Given the description of an element on the screen output the (x, y) to click on. 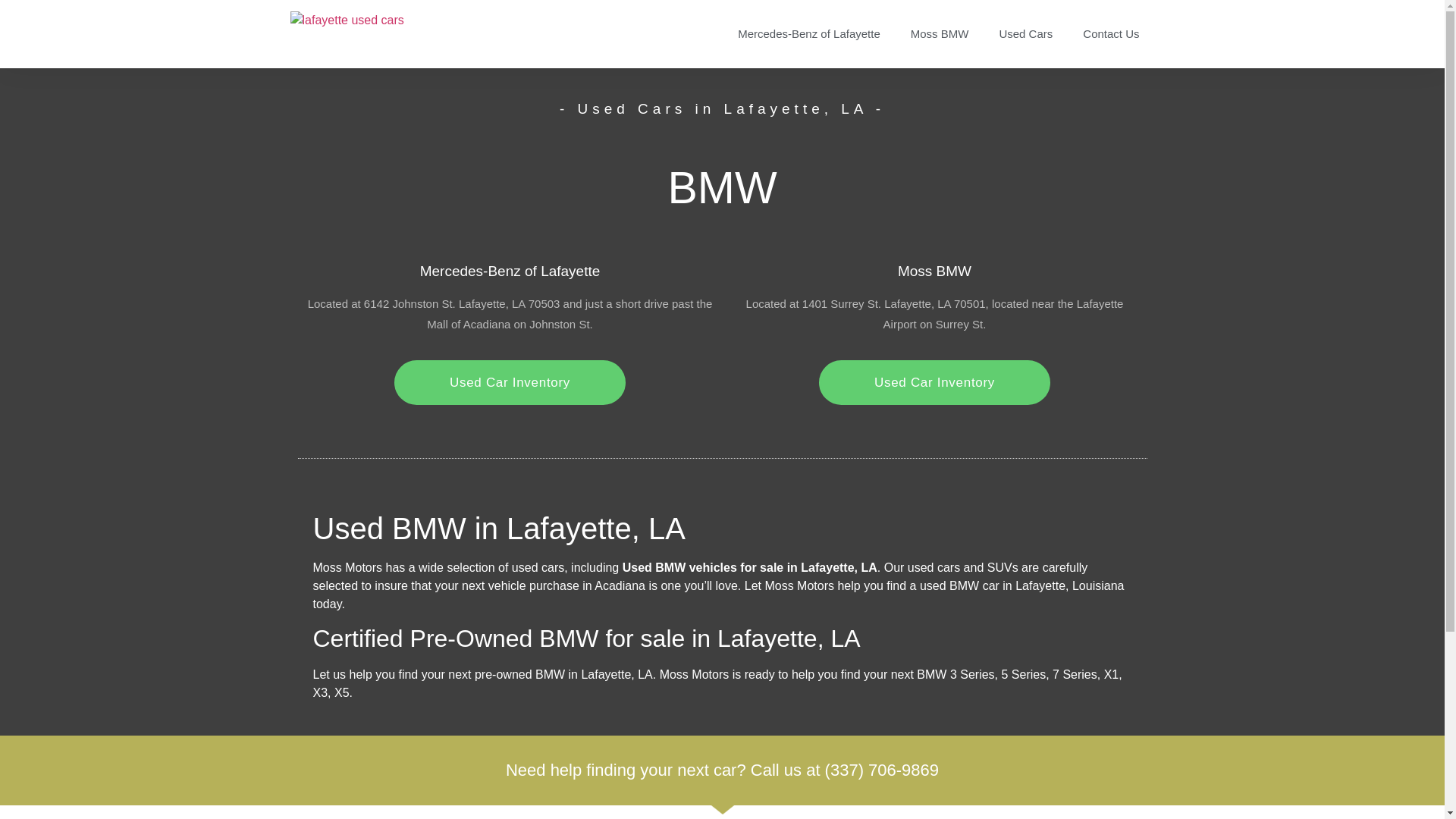
Used Cars (1025, 33)
Moss BMW (939, 33)
Mercedes-Benz of Lafayette (808, 33)
Contact Us (1110, 33)
